Given the description of an element on the screen output the (x, y) to click on. 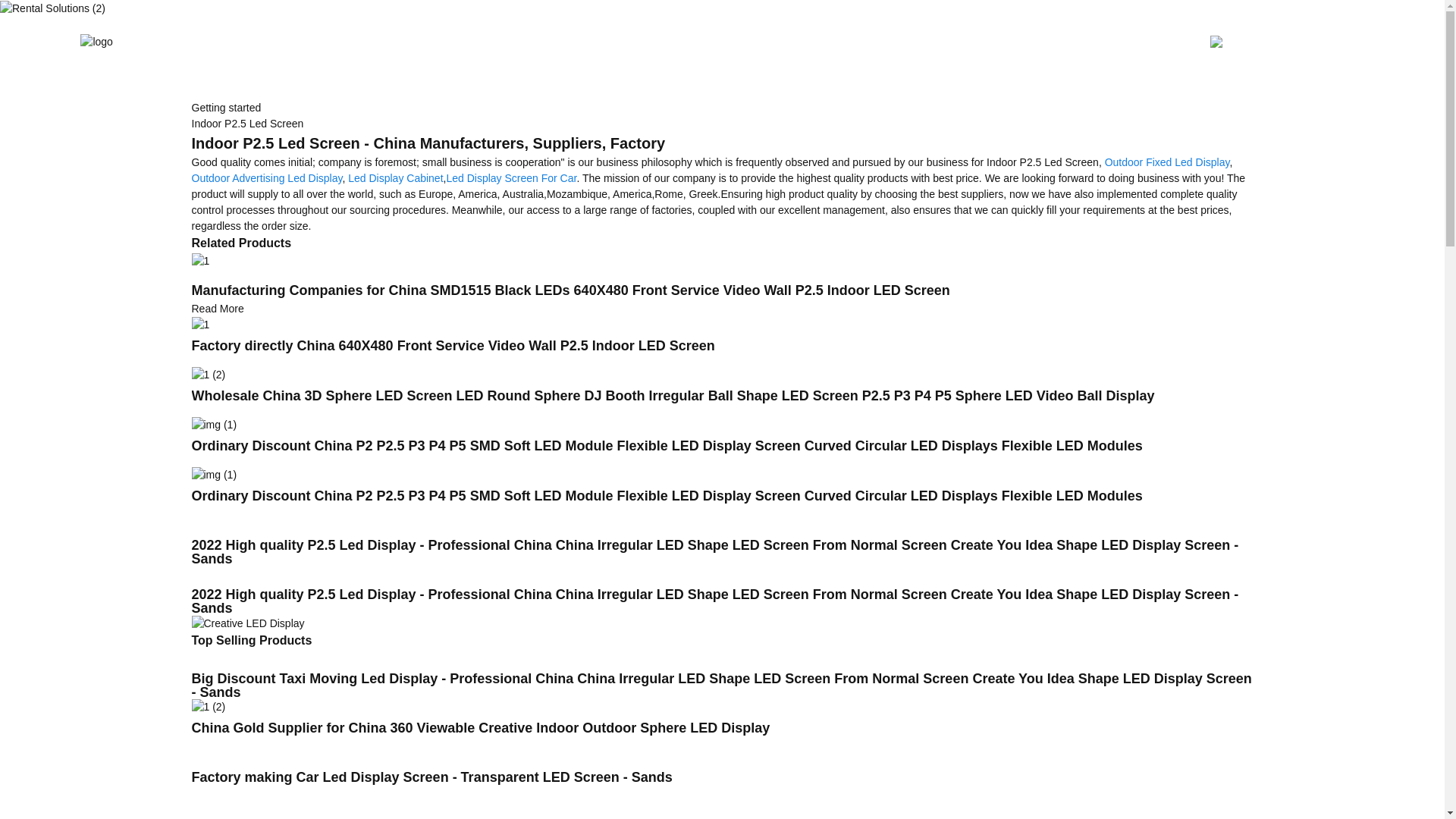
Led Display Screen For Car (510, 177)
HOME (365, 41)
Indoor P2.5 Led Screen (246, 123)
CONTACT US (934, 41)
PRODUCTS (443, 41)
Outdoor Fixed Led Display (1167, 162)
FAQS (853, 41)
Led Display Cabinet (394, 177)
Outdoor Fixed Led Display (1167, 162)
ABOUT SANDS (769, 41)
English (1334, 41)
